Given the description of an element on the screen output the (x, y) to click on. 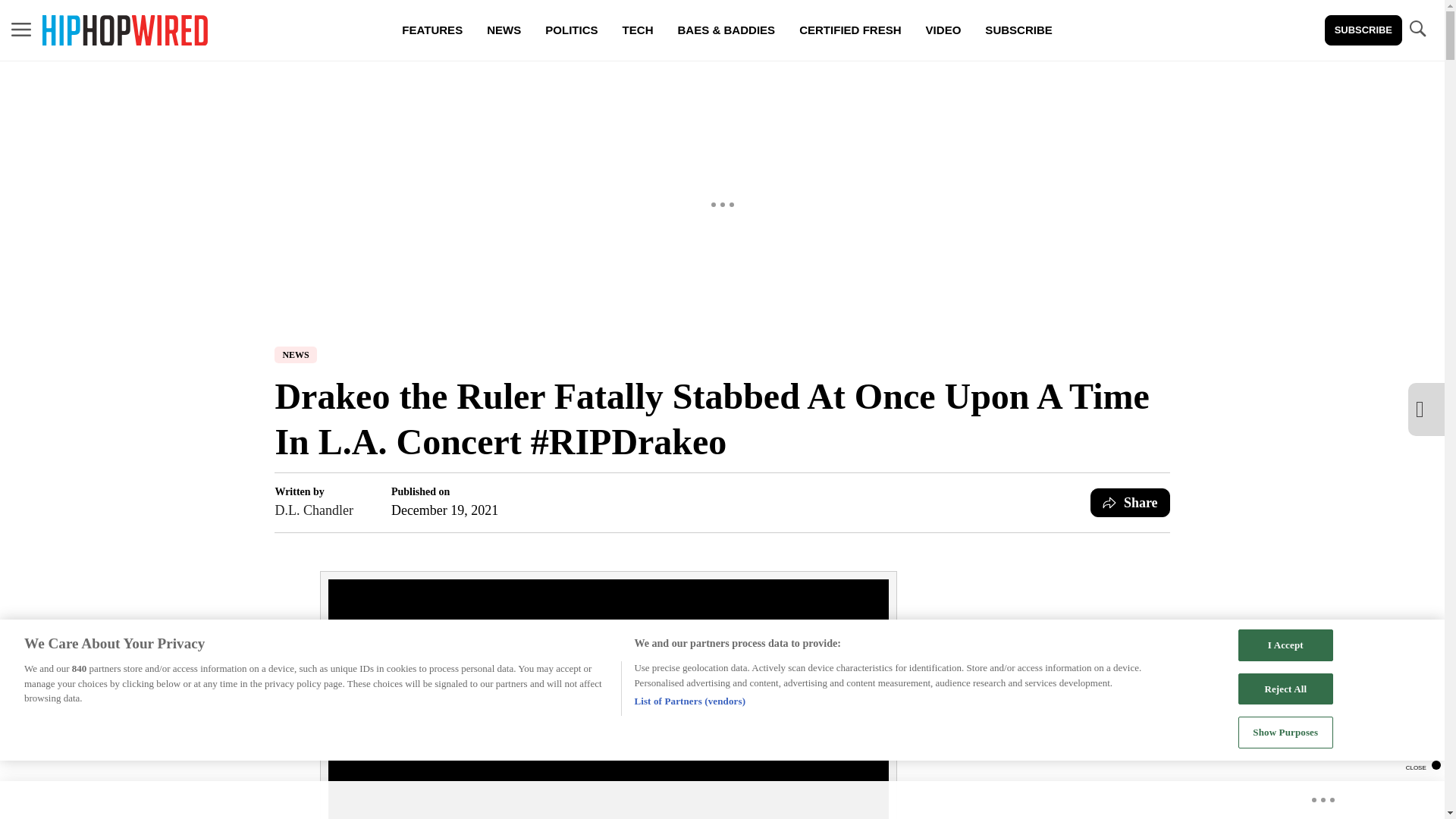
SUBSCRIBE (1018, 30)
NEWS (503, 30)
NEWS (295, 354)
MENU (20, 29)
TOGGLE SEARCH (1417, 30)
VIDEO (944, 30)
TOGGLE SEARCH (1417, 28)
MENU (20, 30)
Share (1130, 502)
SUBSCRIBE (1363, 30)
CERTIFIED FRESH (849, 30)
TECH (637, 30)
D.L. Chandler (313, 509)
POLITICS (571, 30)
FEATURES (432, 30)
